Given the description of an element on the screen output the (x, y) to click on. 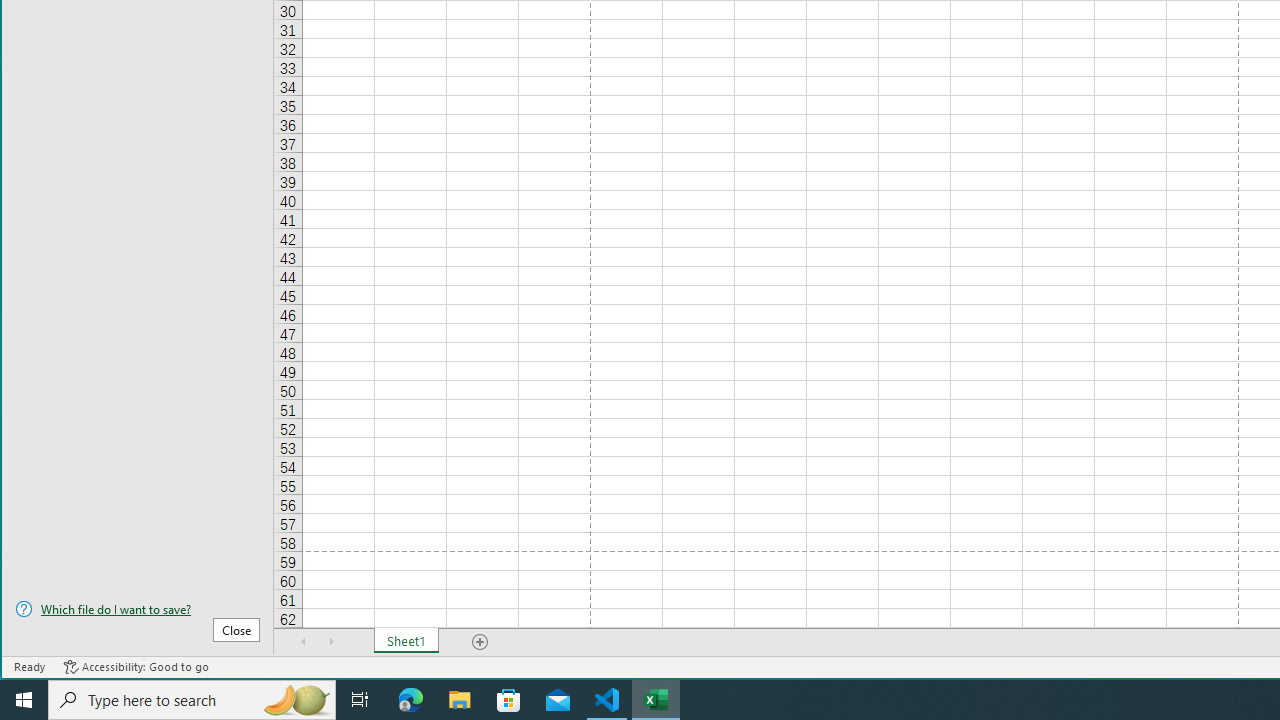
Microsoft Edge (411, 699)
Type here to search (191, 699)
File Explorer (460, 699)
Search highlights icon opens search home window (295, 699)
Excel - 1 running window (656, 699)
Microsoft Store (509, 699)
Start (24, 699)
Visual Studio Code - 1 running window (607, 699)
